Given the description of an element on the screen output the (x, y) to click on. 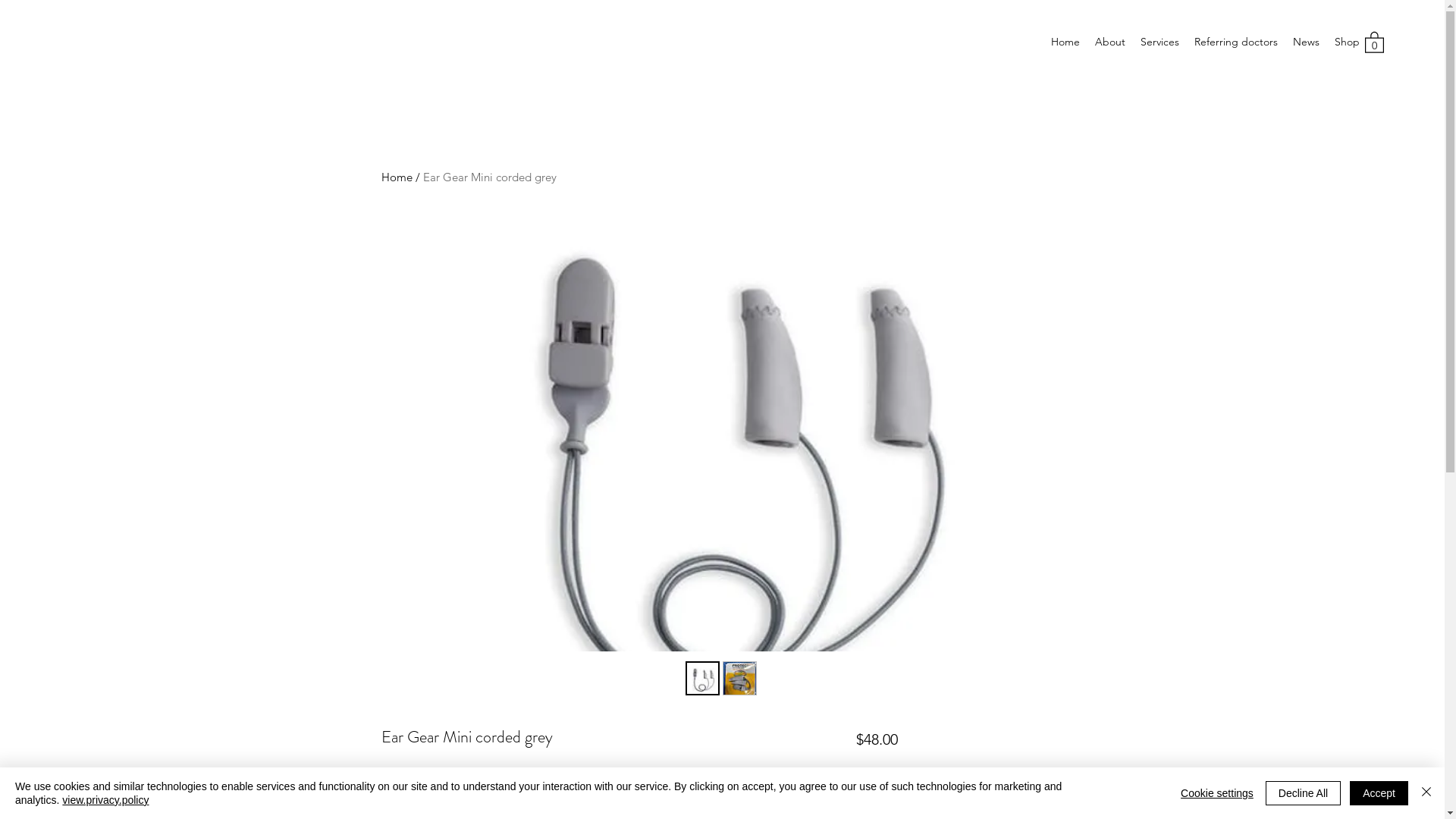
About Element type: text (1109, 41)
Home Element type: text (395, 176)
News Element type: text (1306, 41)
Home Element type: text (1065, 41)
Referring doctors Element type: text (1235, 41)
0 Element type: text (1374, 41)
view.privacy.policy Element type: text (105, 799)
Decline All Element type: text (1302, 793)
Shop Element type: text (1347, 41)
Accept Element type: text (1378, 793)
